Given the description of an element on the screen output the (x, y) to click on. 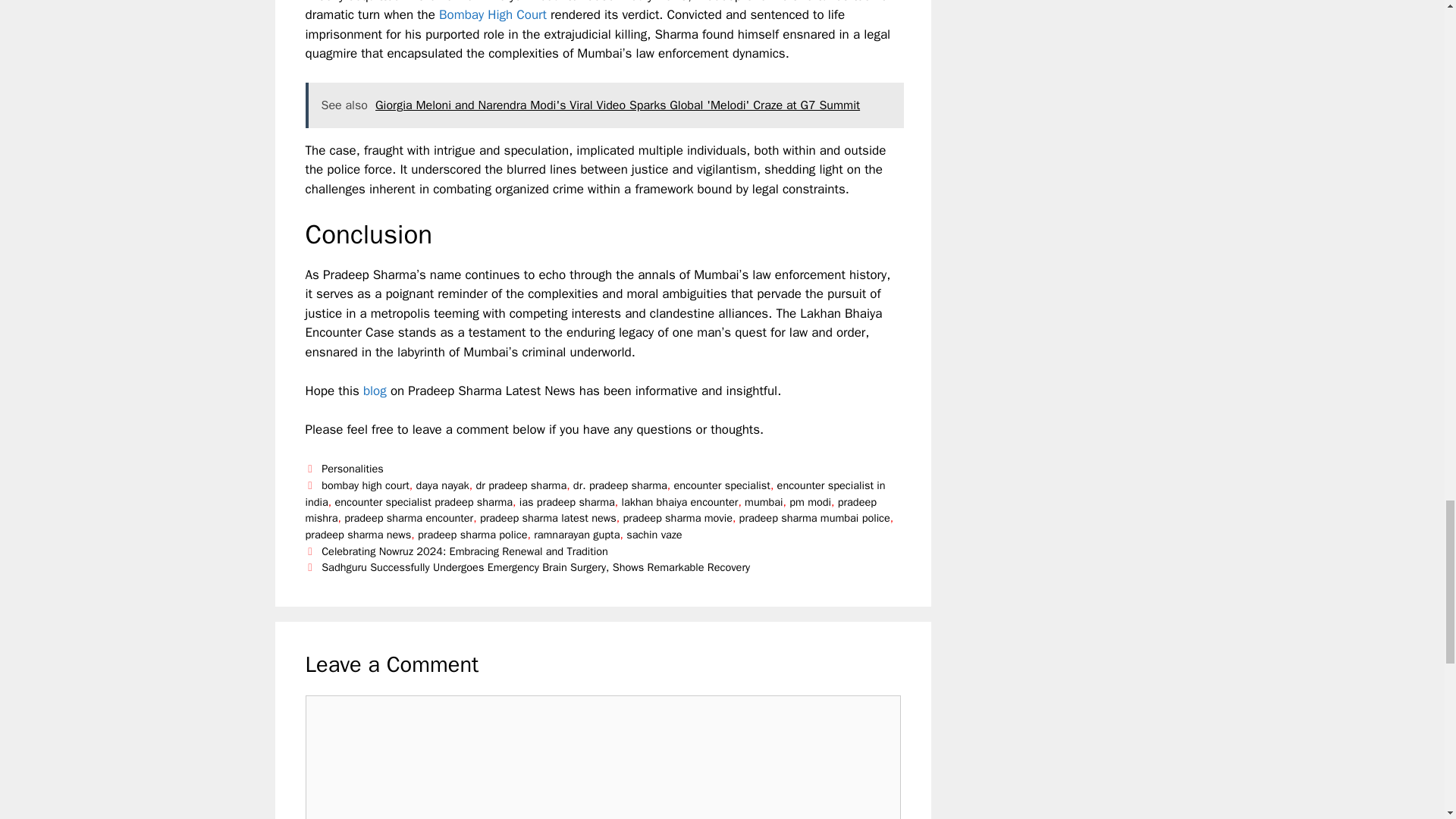
encounter specialist in india (594, 493)
blog (374, 390)
dr pradeep sharma (521, 485)
pradeep sharma movie (677, 517)
pm modi (810, 500)
lakhan bhaiya encounter (679, 500)
pradeep sharma encounter (408, 517)
ias pradeep sharma (566, 500)
pradeep sharma mumbai police (814, 517)
daya nayak (441, 485)
Personalities (352, 468)
sachin vaze (654, 534)
bombay high court (365, 485)
